Given the description of an element on the screen output the (x, y) to click on. 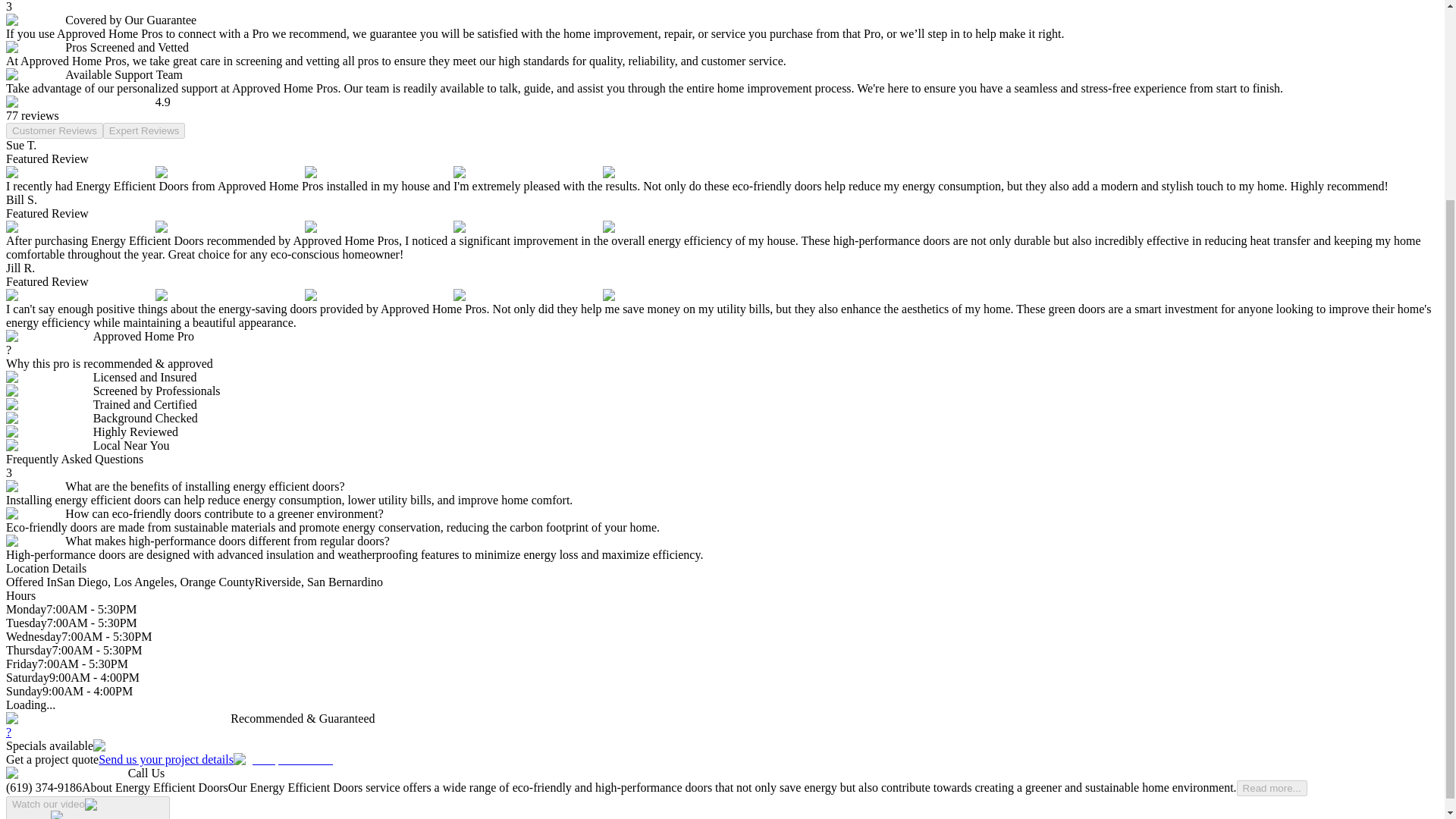
Send us your project details (216, 758)
Expert Reviews (144, 130)
Customer Reviews (54, 130)
Read more... (1271, 788)
